Given the description of an element on the screen output the (x, y) to click on. 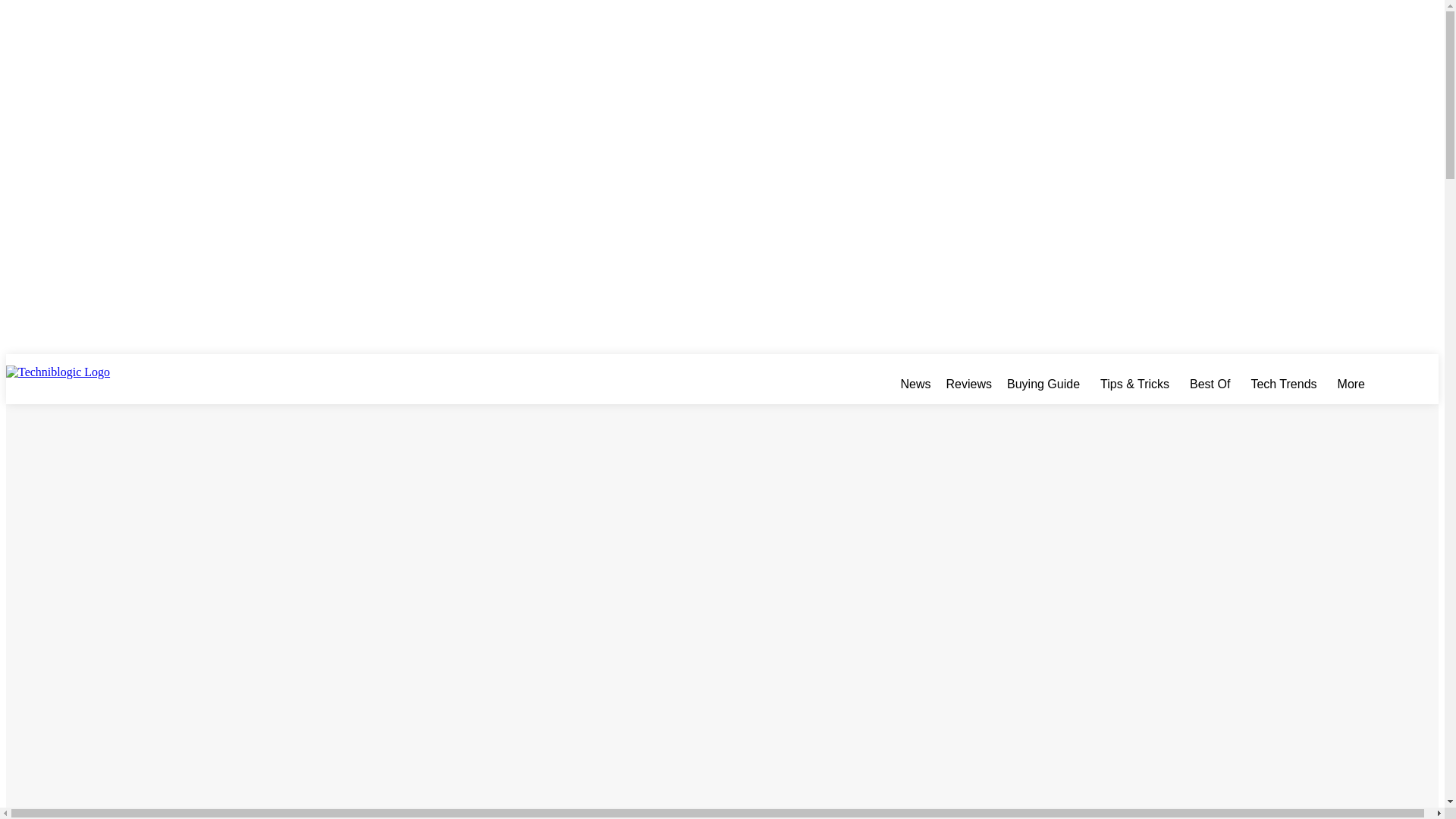
Reviews (968, 383)
Techniblogic Logo (89, 384)
Buying Guide (1045, 384)
Tech Trends Gadgets (1286, 384)
Best Of (1212, 384)
Best Of (1212, 384)
